Given the description of an element on the screen output the (x, y) to click on. 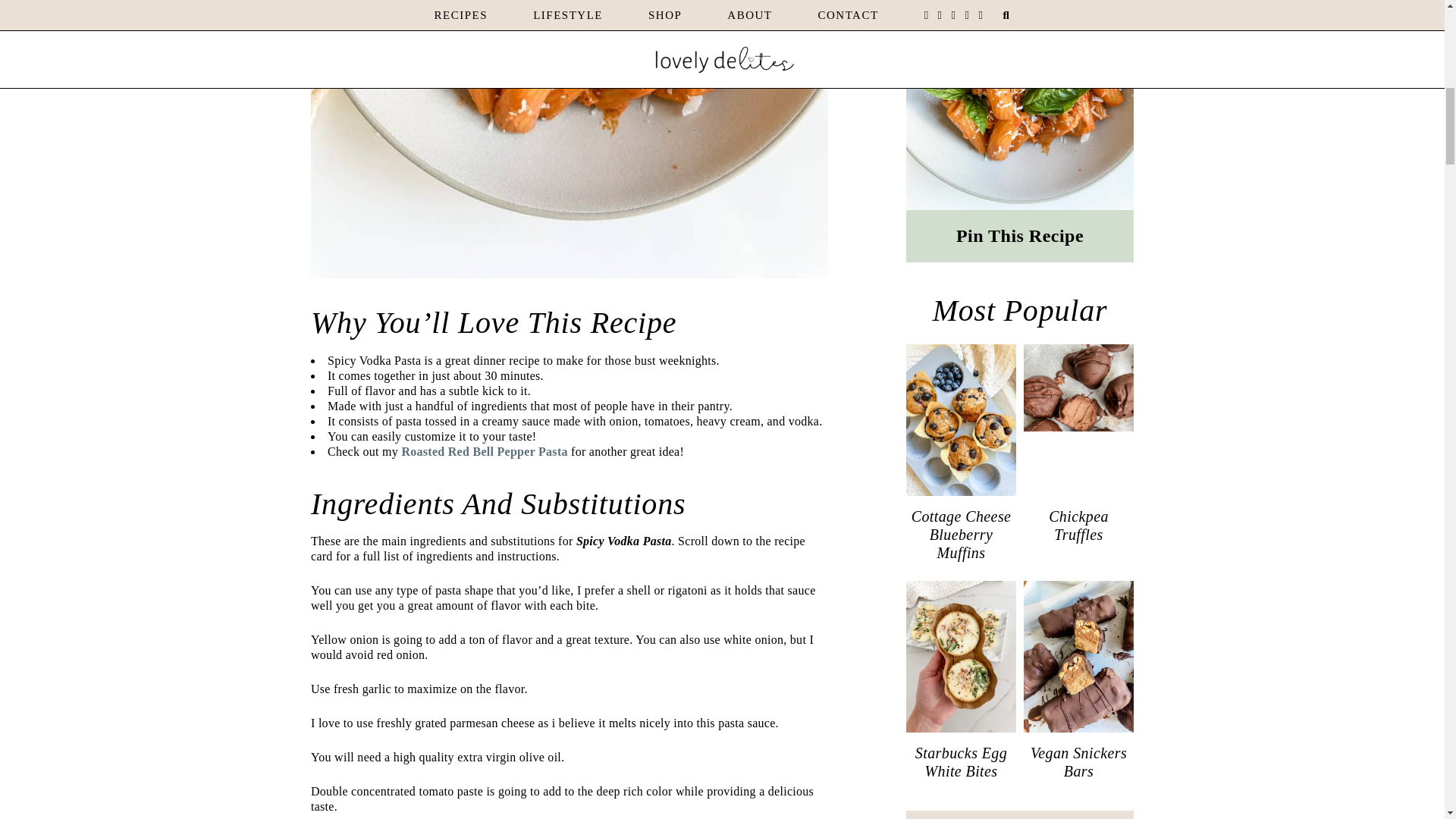
Starbucks Egg White Bites (960, 761)
Vegan Snickers Bars (1078, 761)
Chickpea Truffles (1078, 524)
Roasted Red Bell Pepper Pasta (484, 451)
Cottage Cheese Blueberry Muffins (960, 533)
